Given the description of an element on the screen output the (x, y) to click on. 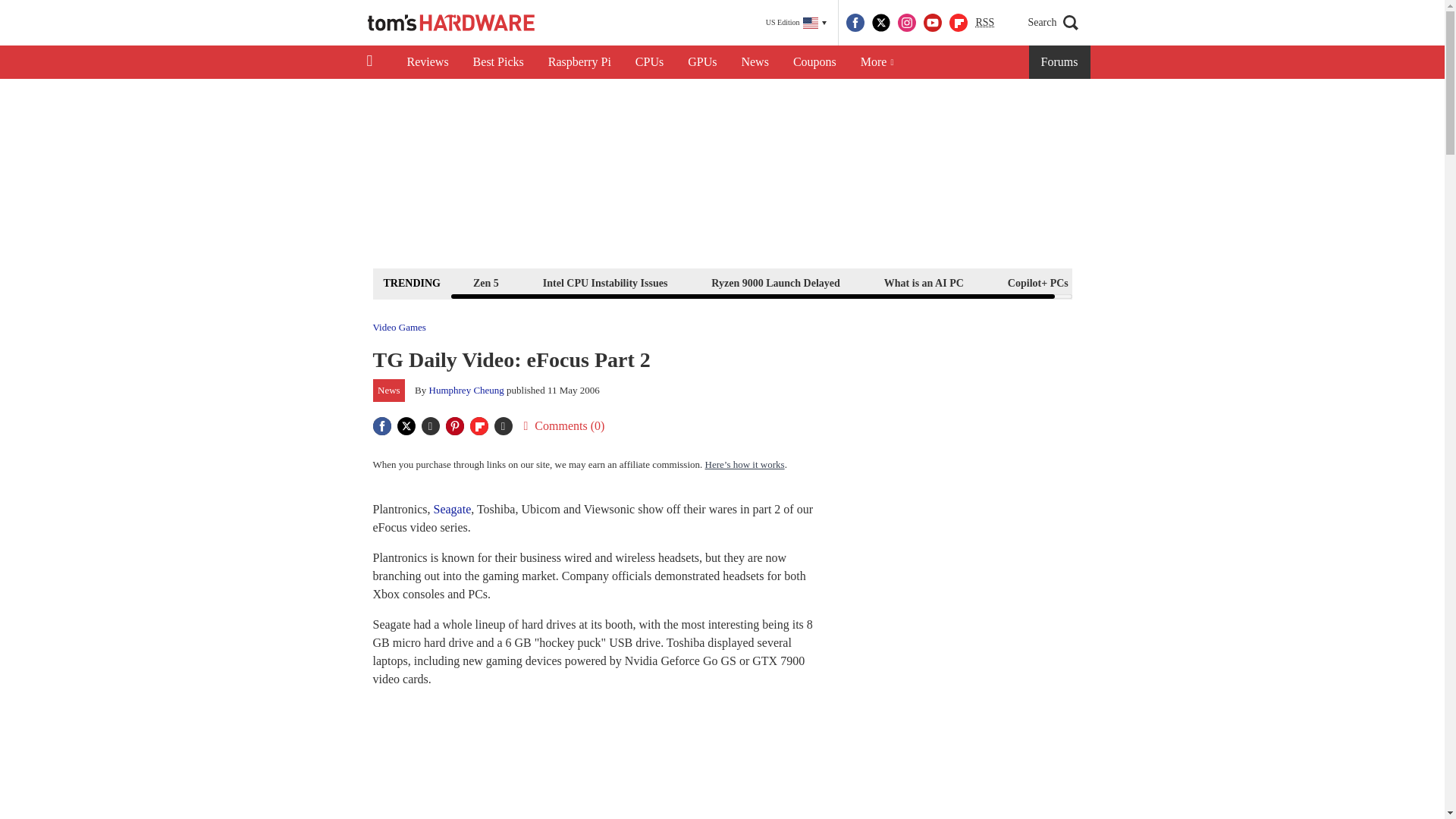
Coupons (814, 61)
Raspberry Pi (579, 61)
Reviews (427, 61)
Zen 5 (485, 282)
US Edition (796, 22)
Really Simple Syndication (984, 21)
News (754, 61)
Forums (1059, 61)
Best Picks (498, 61)
GPUs (702, 61)
RSS (984, 22)
CPUs (649, 61)
